Given the description of an element on the screen output the (x, y) to click on. 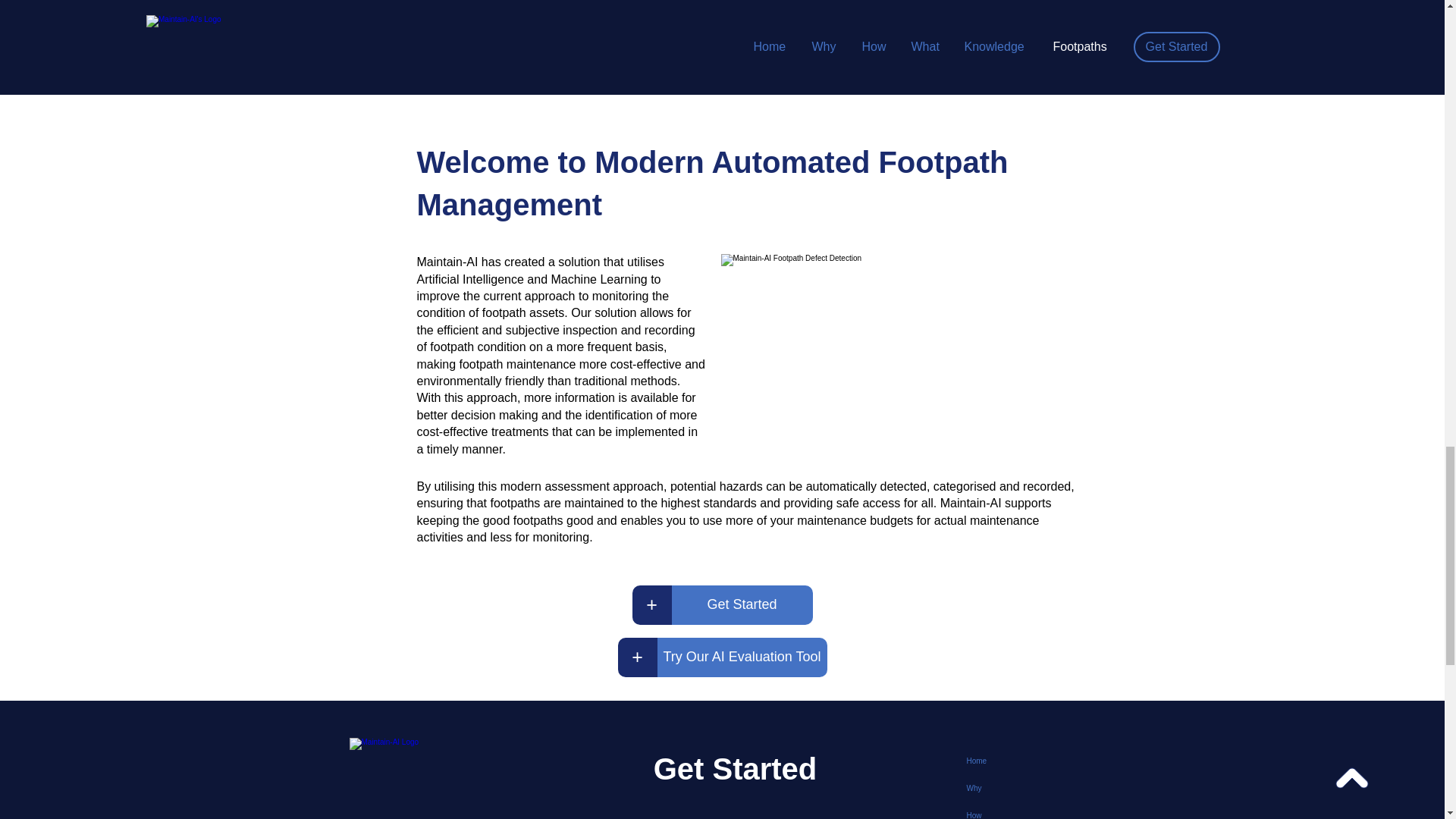
Try Our AI Evaluation Tool (741, 657)
Why (1019, 788)
How (1019, 810)
Get Started (741, 604)
Home (1019, 760)
